Given the description of an element on the screen output the (x, y) to click on. 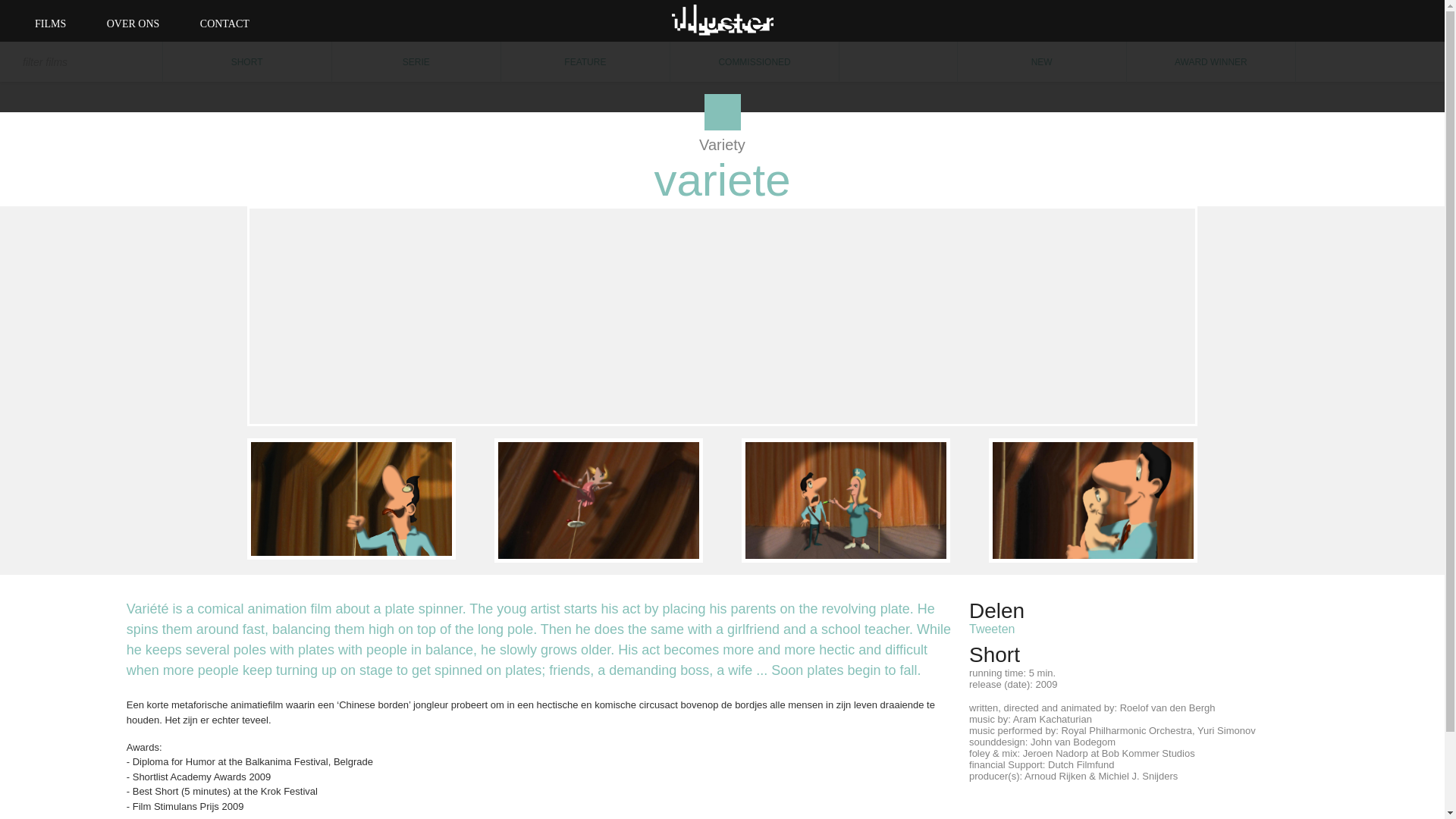
SHORT (246, 61)
Volg ons op Youtube (1368, 19)
Volg ons op Vimeo (1335, 19)
Paultje en de Draak (1323, 319)
Volg ons op Youtube (1368, 19)
Films (49, 23)
FEATURE (584, 61)
NEW (1041, 61)
Bricks (121, 319)
Tweeten (991, 628)
Volg ons op Vimeo (1335, 19)
Apply (35, 21)
CONTACT (224, 23)
SERIE (415, 61)
FILMS (49, 23)
